Given the description of an element on the screen output the (x, y) to click on. 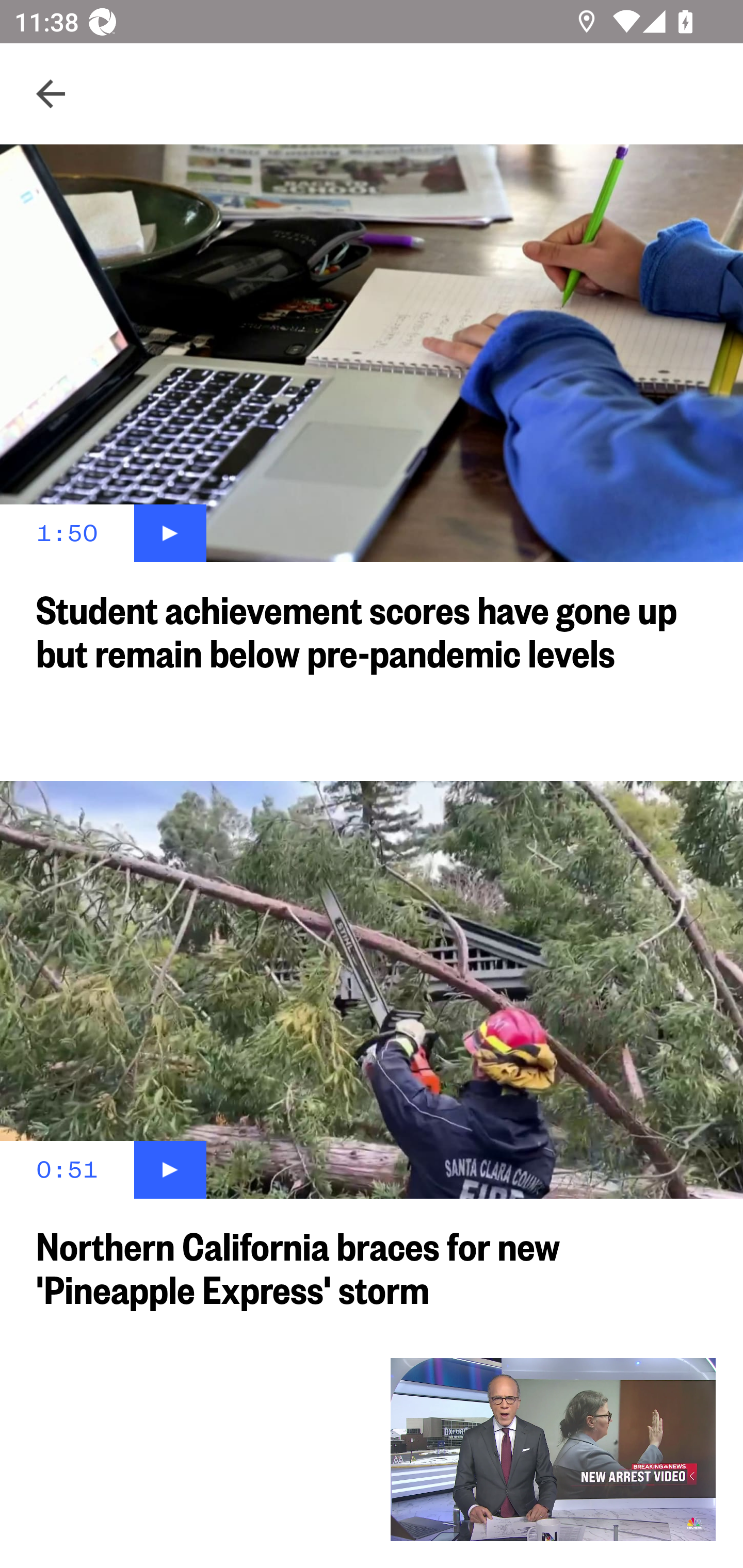
Navigate up (50, 93)
